Given the description of an element on the screen output the (x, y) to click on. 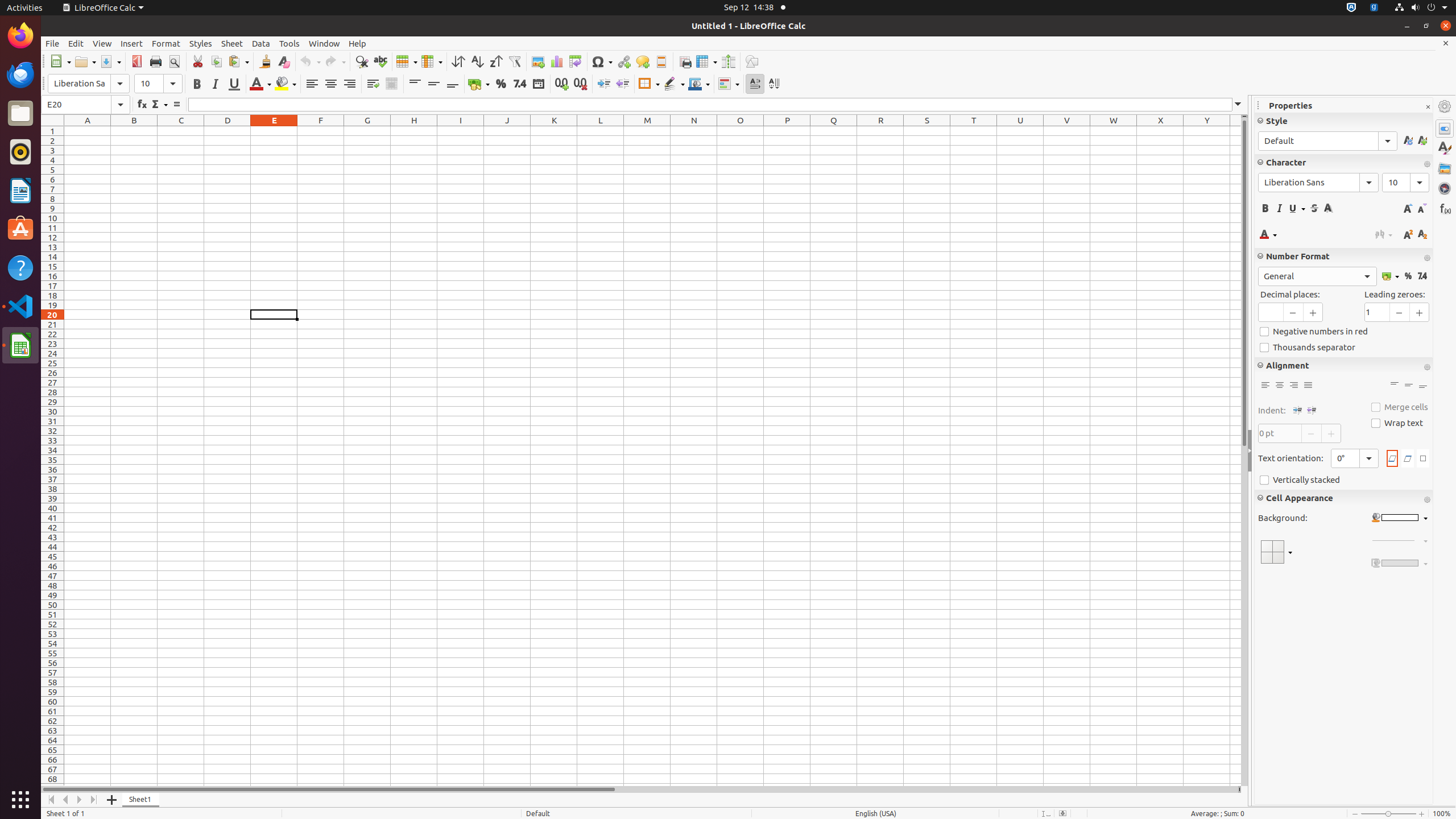
Font Color Element type: push-button (260, 83)
Text direction from left to right Element type: toggle-button (754, 83)
Gallery Element type: radio-button (1444, 168)
Thousands separator Element type: check-box (1343, 347)
J1 Element type: table-cell (507, 130)
